Given the description of an element on the screen output the (x, y) to click on. 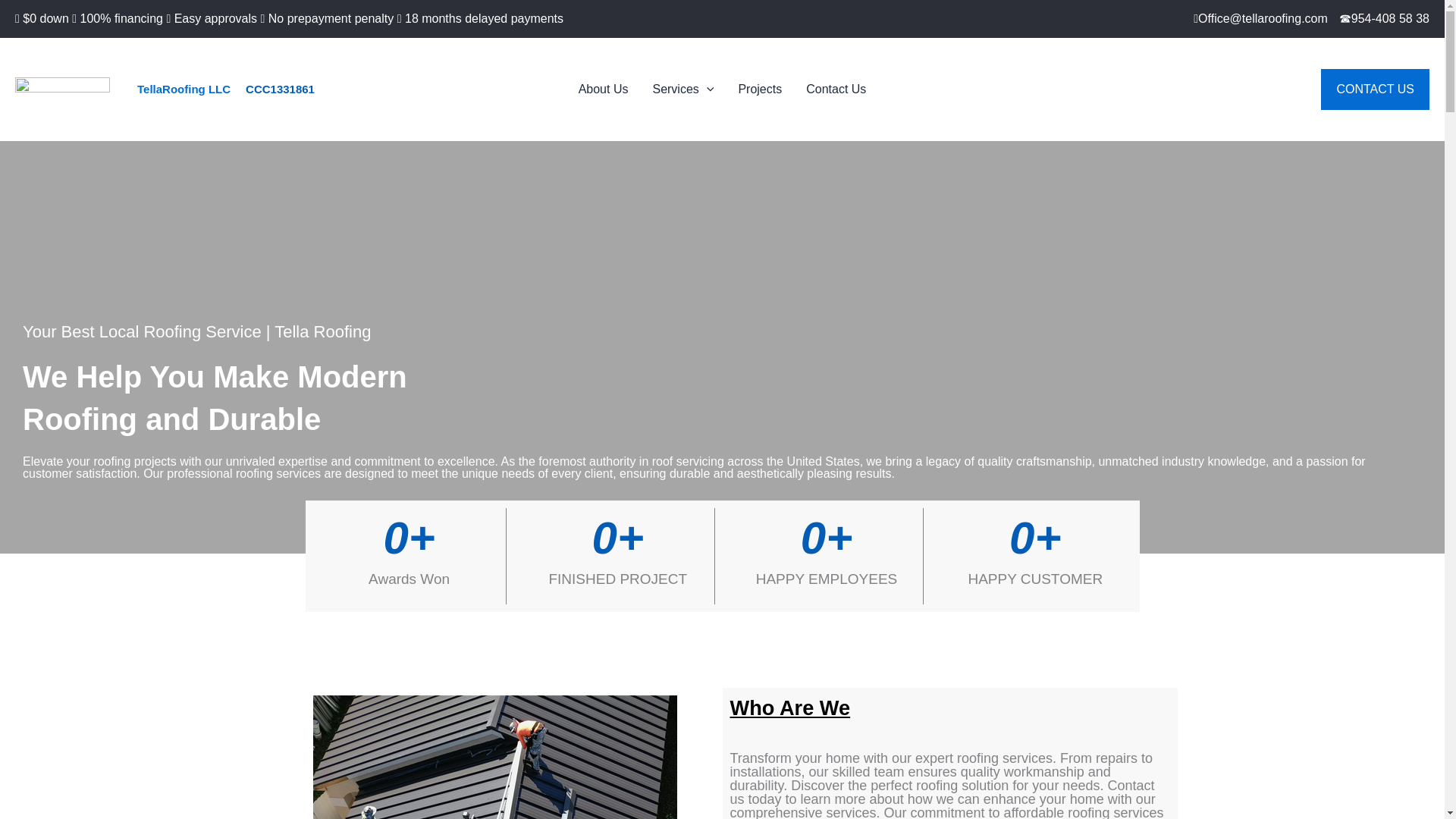
954-408 58 38 (1390, 18)
Projects (759, 88)
CONTACT US (1374, 88)
Services (682, 88)
Contact Us (835, 88)
About Us (603, 88)
